Given the description of an element on the screen output the (x, y) to click on. 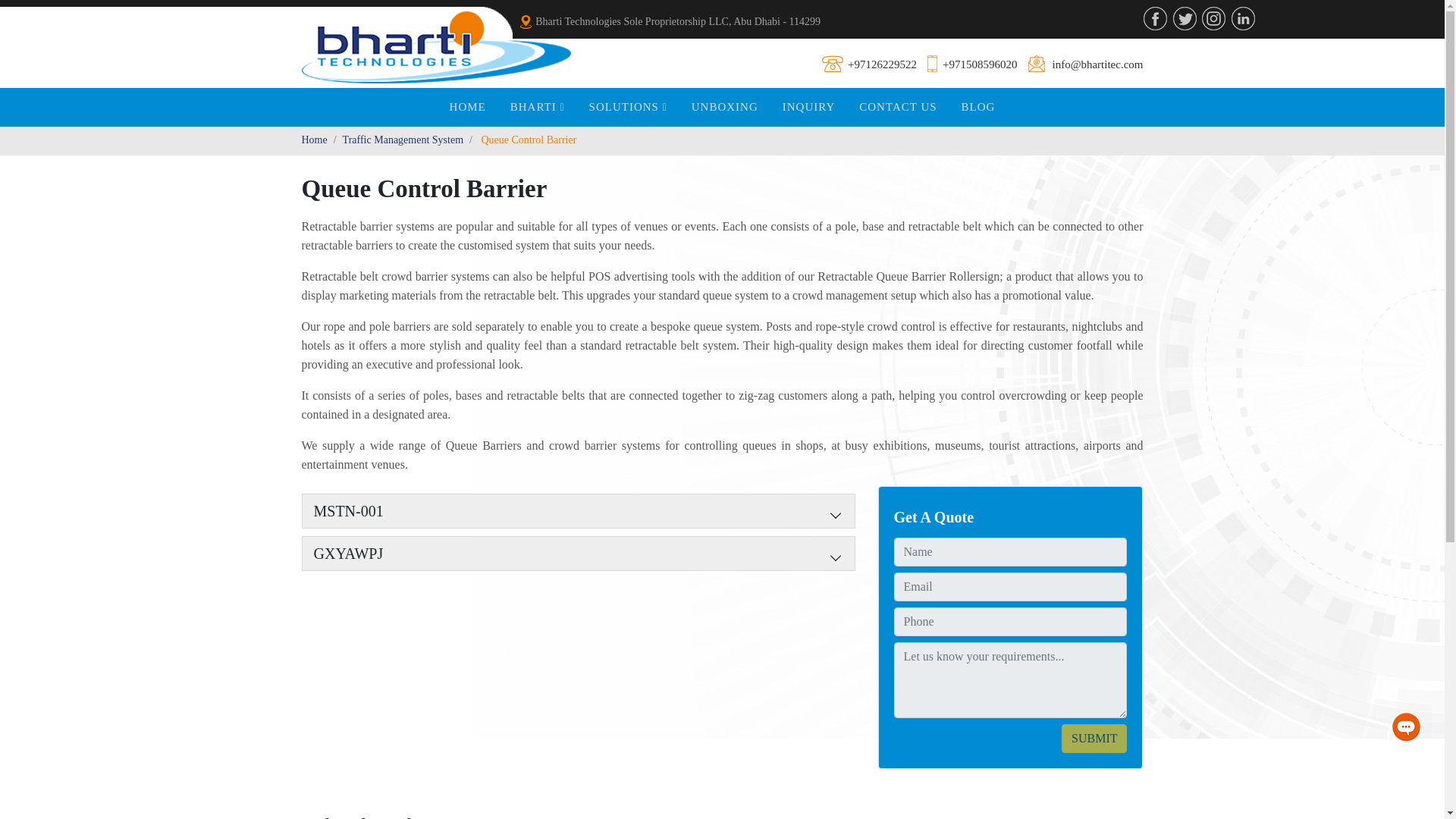
Submit (1093, 737)
CONTACT US (897, 106)
SOLUTIONS (628, 106)
HOME (467, 106)
UNBOXING (724, 106)
INQUIRY (808, 106)
BLOG (978, 106)
BHARTI (537, 106)
